Given the description of an element on the screen output the (x, y) to click on. 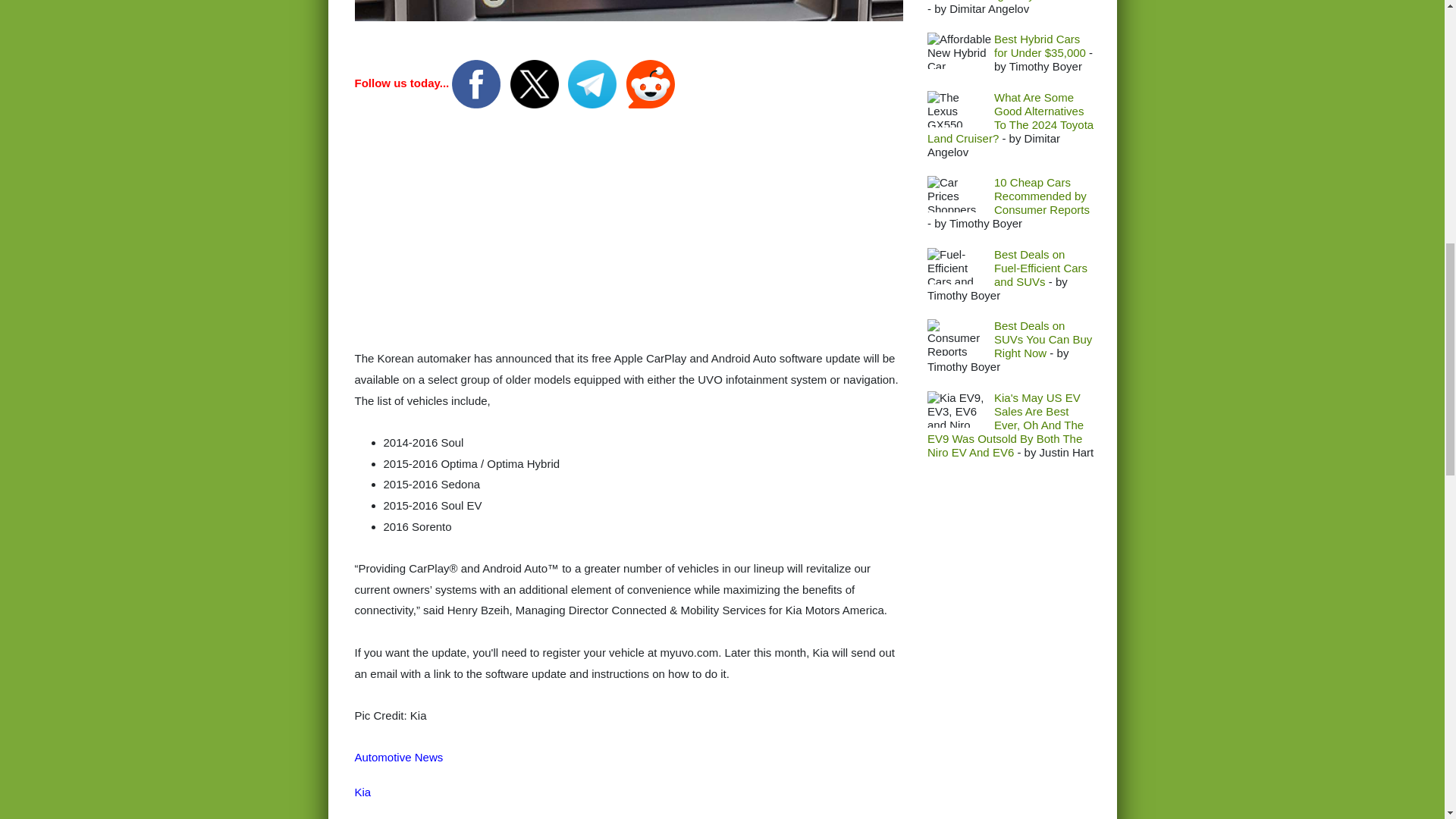
Kia (363, 791)
Join us on Telegram! (593, 82)
Join us on Reddit! (650, 82)
Automotive News (399, 757)
